Given the description of an element on the screen output the (x, y) to click on. 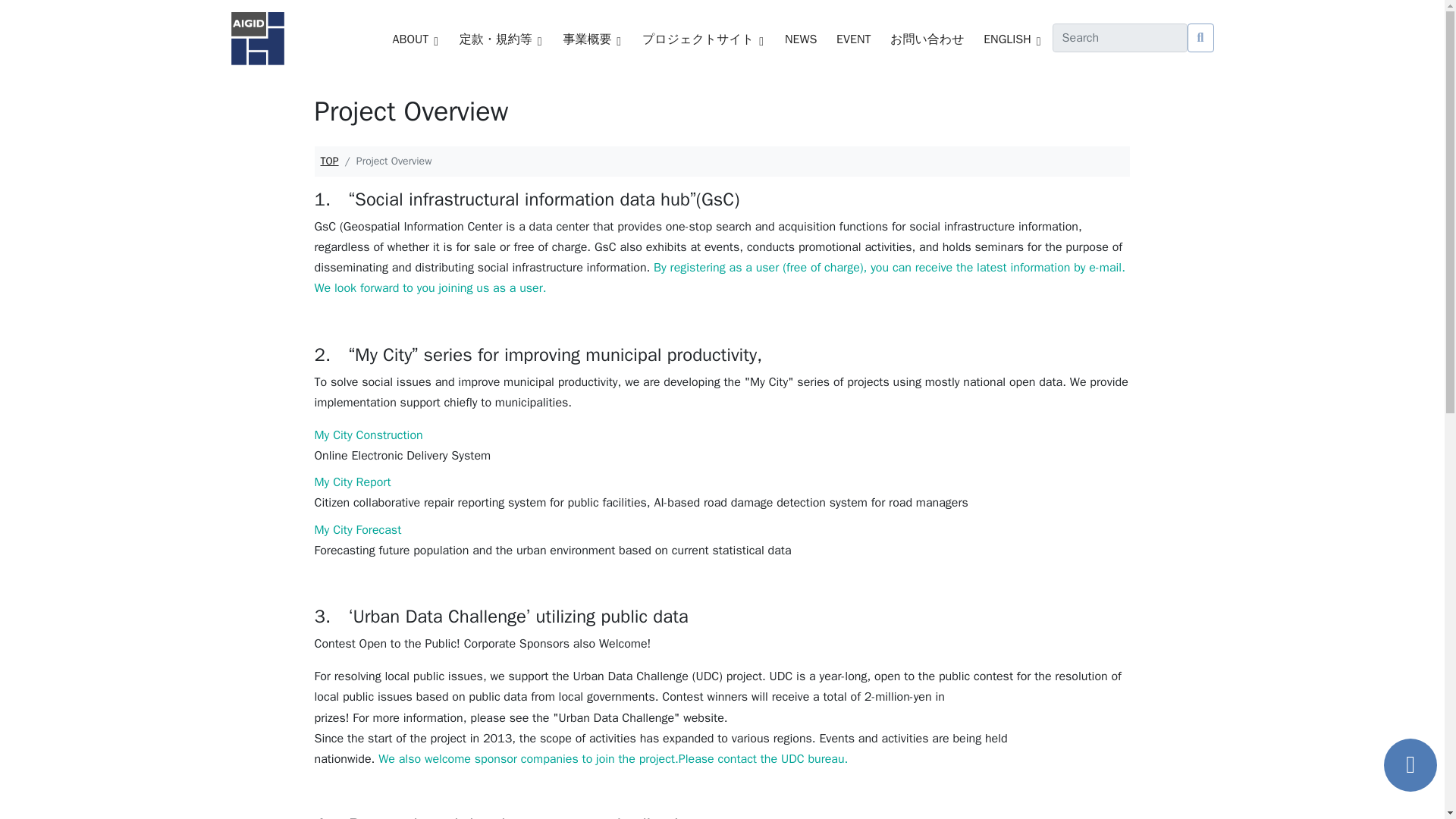
NEWS (800, 38)
EVENT (853, 38)
ABOUT (410, 38)
ENGLISH (1007, 38)
TOP (328, 160)
